Given the description of an element on the screen output the (x, y) to click on. 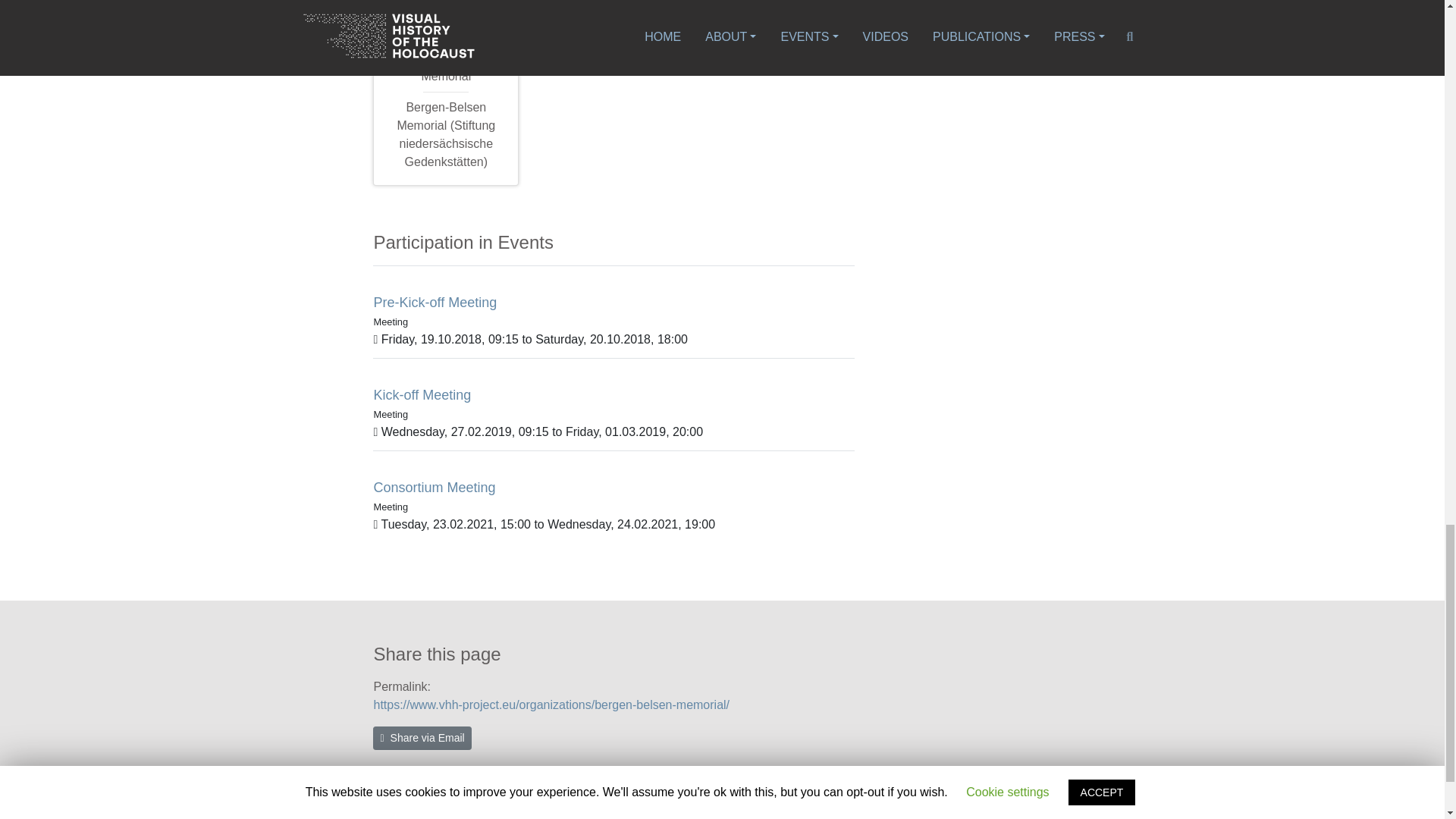
Imprint (750, 806)
Consortium Meeting (433, 487)
Share via Email (421, 738)
Kick-off Meeting (421, 394)
Pre-Kick-off Meeting (434, 302)
